Given the description of an element on the screen output the (x, y) to click on. 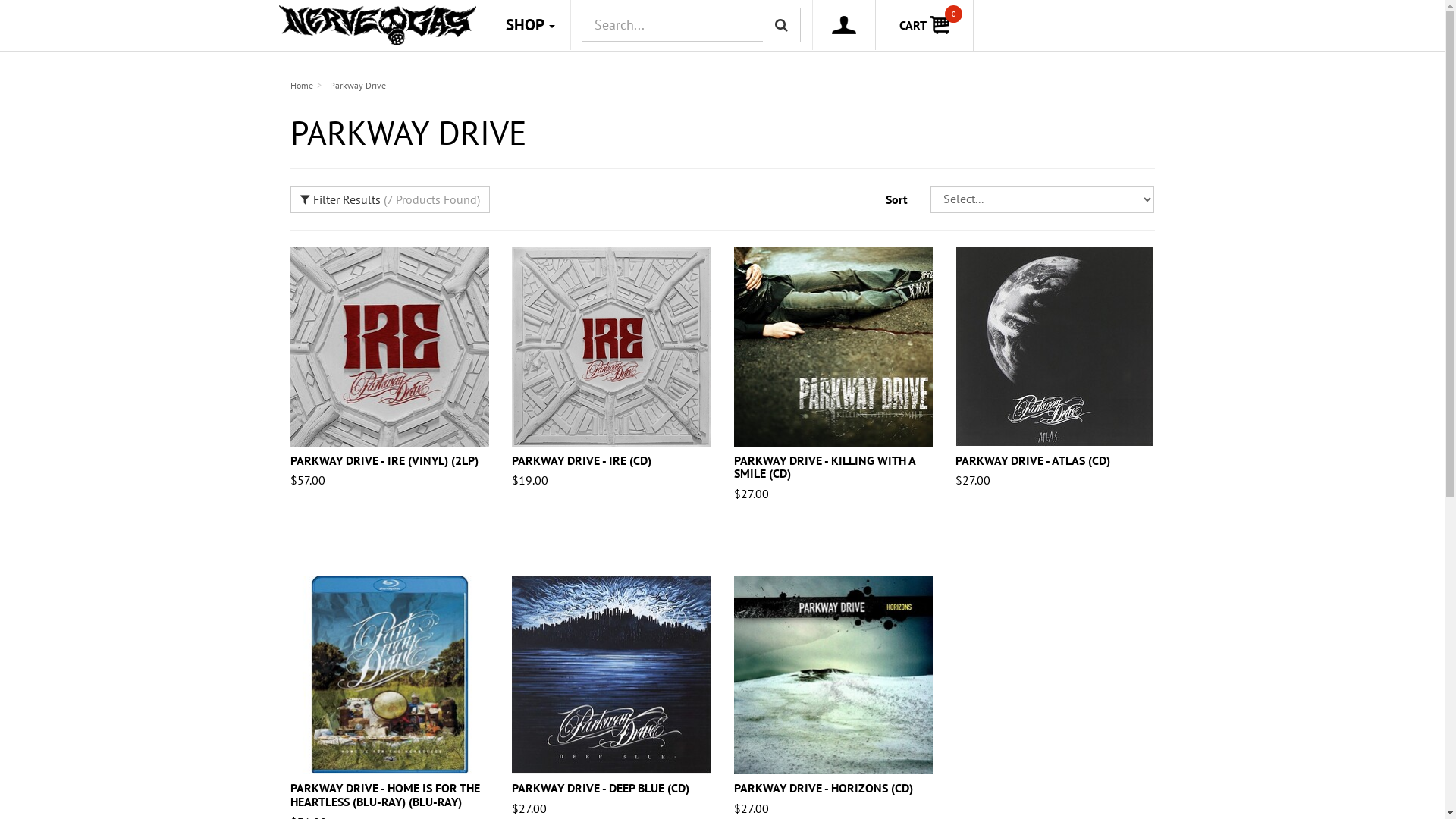
PARKWAY DRIVE - IRE (VINYL) (2LP) Element type: text (383, 459)
Nerve Gas Element type: text (379, 27)
PARKWAY DRIVE - IRE (CD) Element type: text (581, 459)
PARKWAY DRIVE - KILLING WITH A SMILE (CD) Element type: text (824, 466)
PARKWAY DRIVE - ATLAS (CD) Element type: text (1032, 459)
Search Element type: text (781, 24)
Parkway Drive Element type: text (357, 85)
SHOP Element type: text (529, 25)
PARKWAY DRIVE - HORIZONS (CD) Element type: text (823, 787)
Filter Results (7 Products Found) Element type: text (389, 199)
Home Element type: text (300, 85)
PARKWAY DRIVE - DEEP BLUE (CD) Element type: text (600, 787)
MY ACCOUNT Element type: text (843, 25)
